Given the description of an element on the screen output the (x, y) to click on. 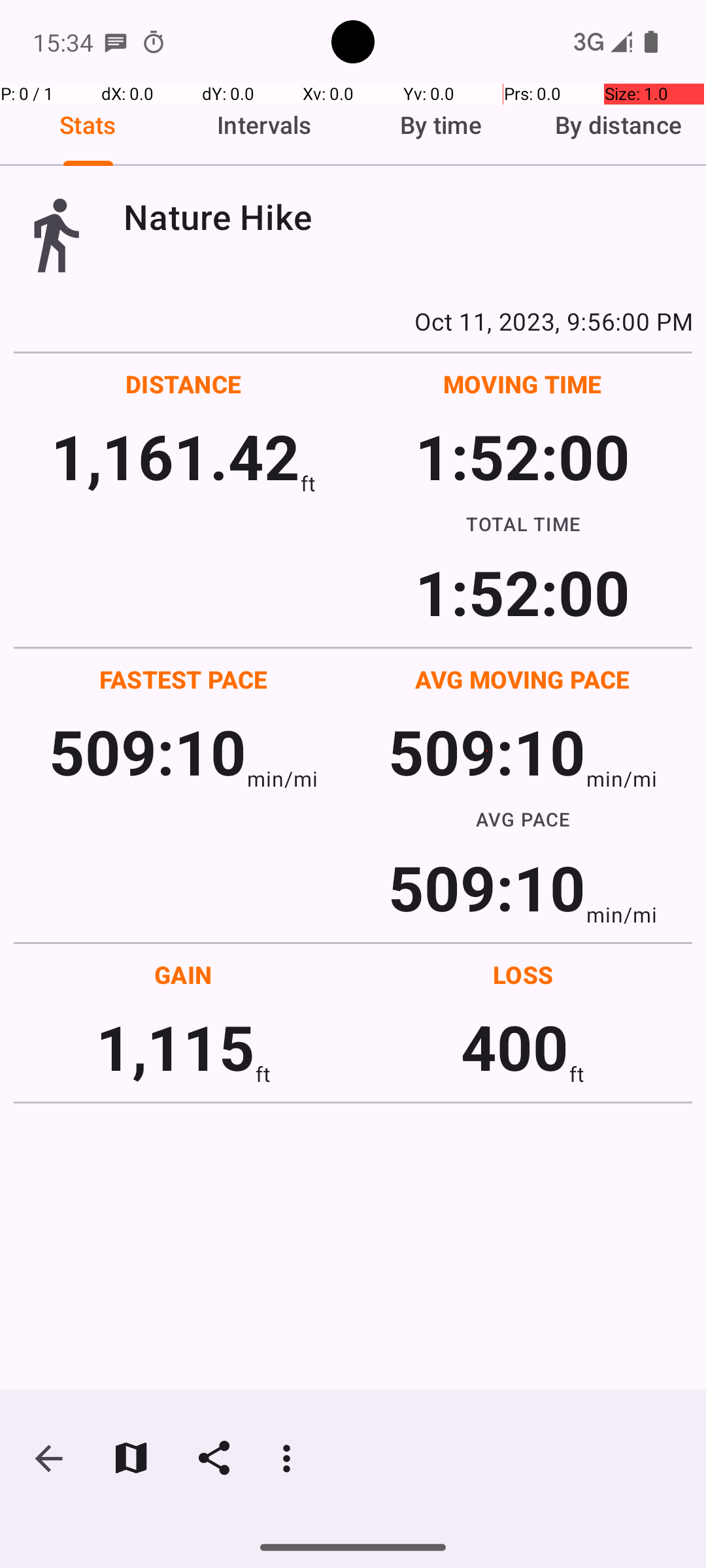
Nature Hike Element type: android.widget.TextView (407, 216)
Oct 11, 2023, 9:56:00 PM Element type: android.widget.TextView (352, 320)
1,161.42 Element type: android.widget.TextView (175, 455)
1:52:00 Element type: android.widget.TextView (522, 455)
509:10 Element type: android.widget.TextView (147, 750)
1,115 Element type: android.widget.TextView (175, 1045)
400 Element type: android.widget.TextView (514, 1045)
